Given the description of an element on the screen output the (x, y) to click on. 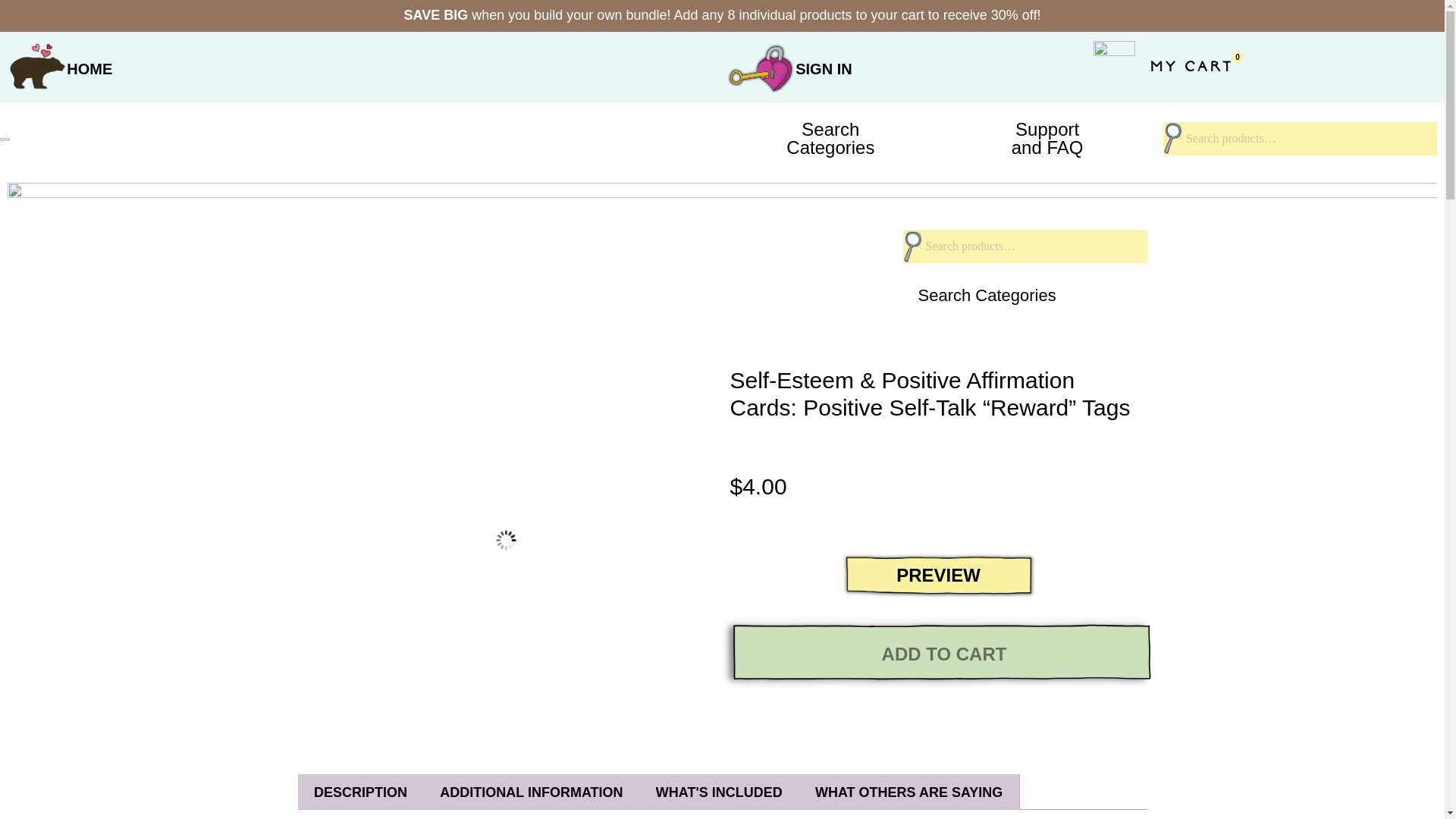
0 (830, 138)
HOME (1195, 96)
SIGN IN (1047, 138)
